Given the description of an element on the screen output the (x, y) to click on. 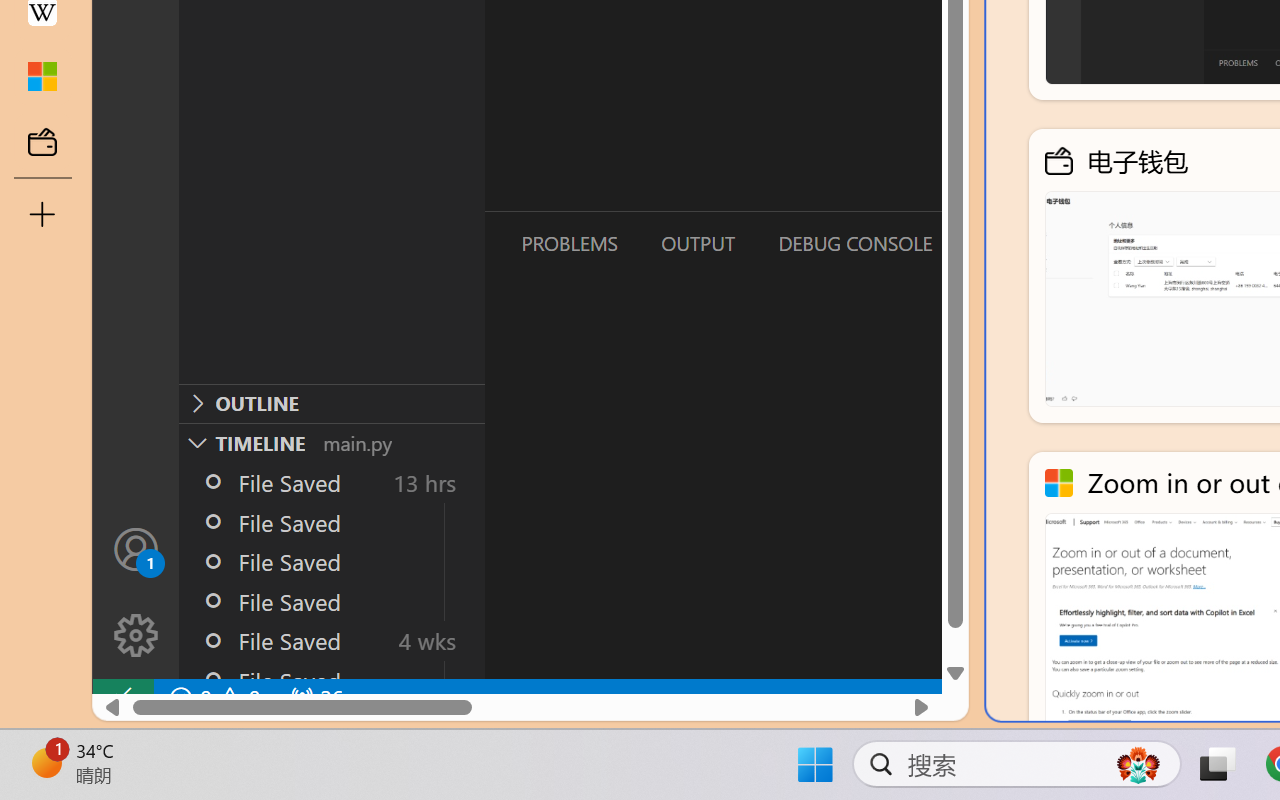
Terminal (Ctrl+`) (1021, 243)
Manage (135, 591)
